Given the description of an element on the screen output the (x, y) to click on. 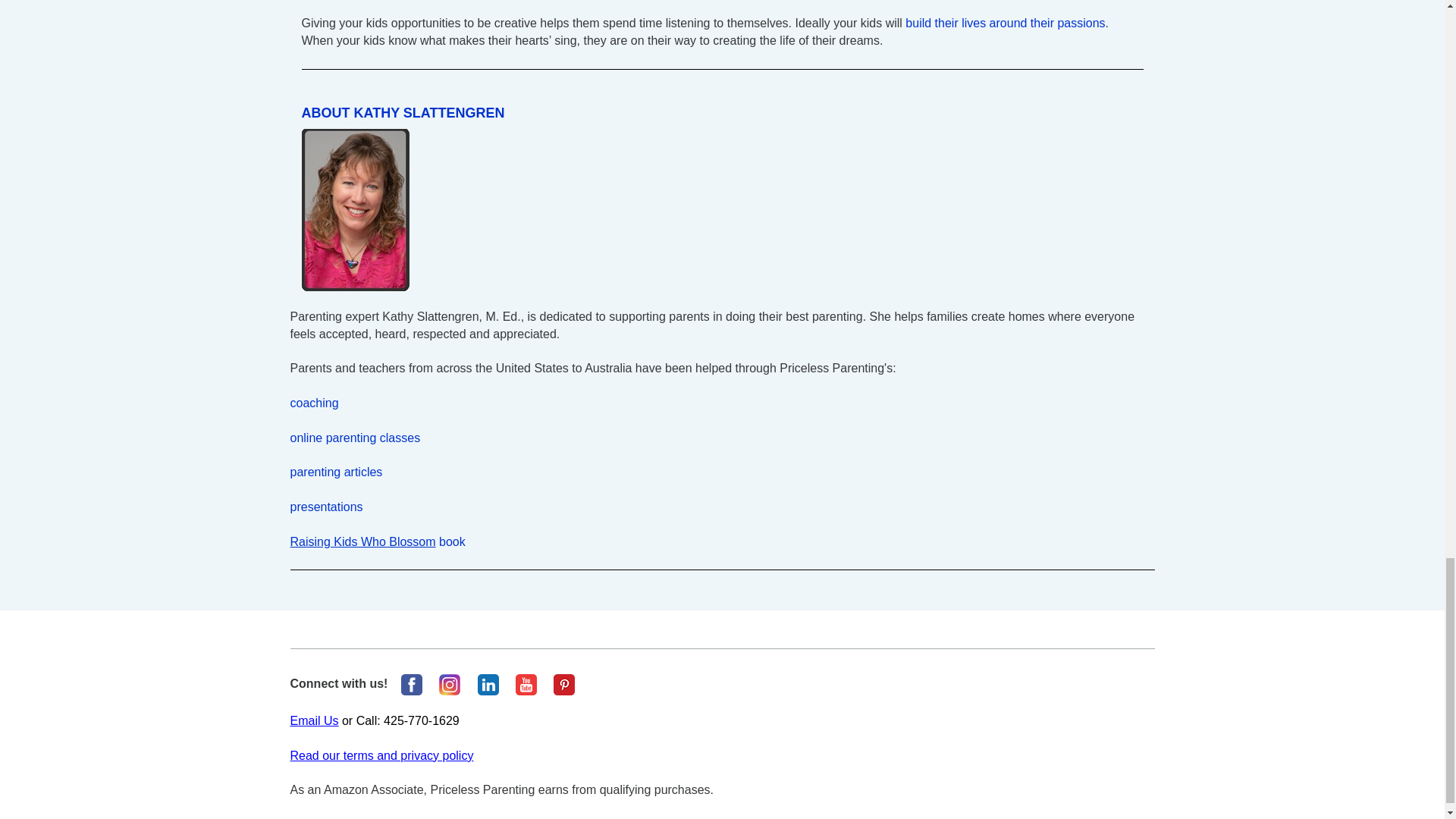
Facebook (411, 684)
Pinterest (564, 684)
build their lives around their passions (1005, 22)
YouTube (526, 684)
LinkedIn (488, 684)
Facebook (449, 684)
